Given the description of an element on the screen output the (x, y) to click on. 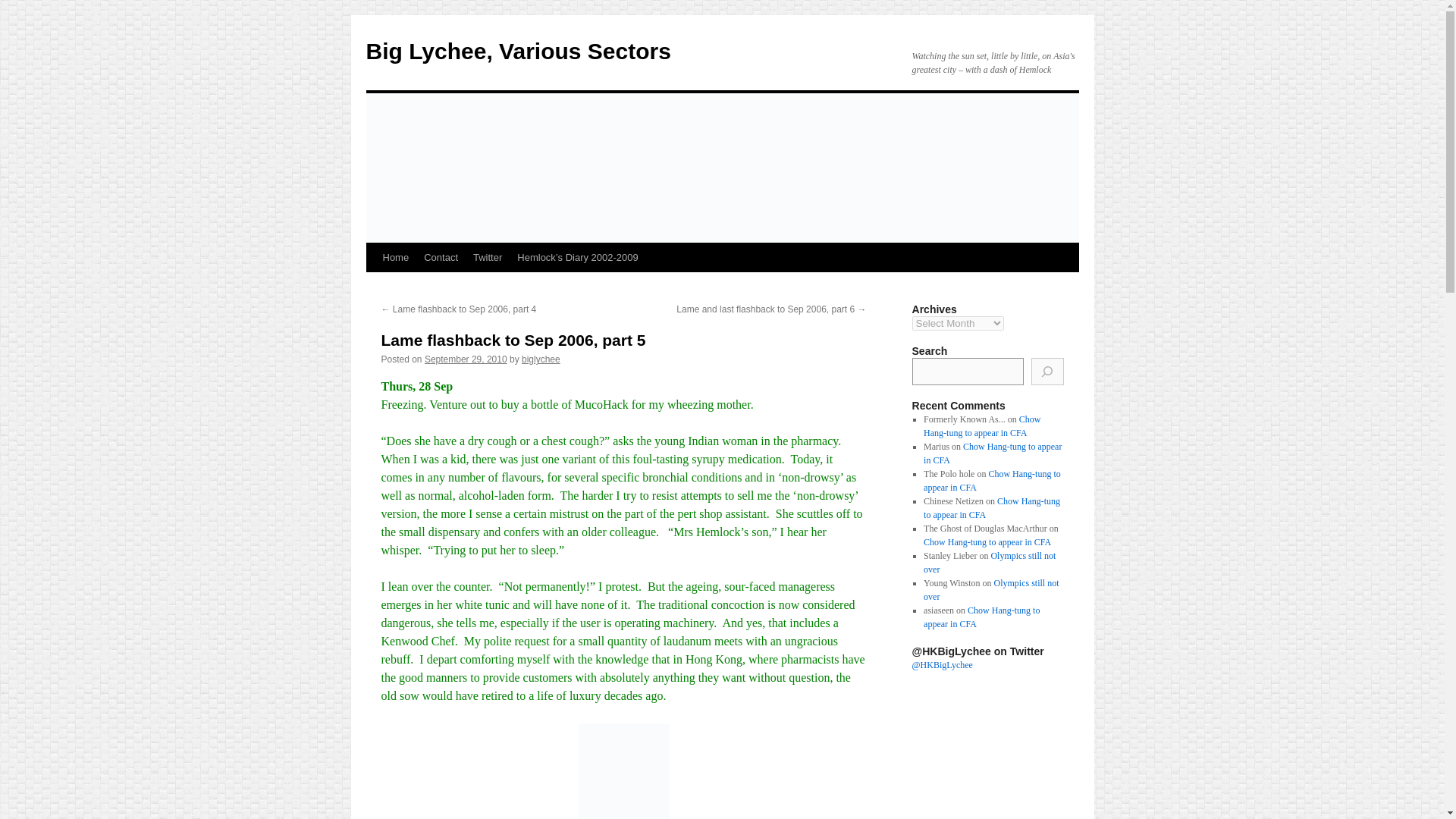
Olympics still not over (990, 589)
Chow Hang-tung to appear in CFA (991, 508)
Chow Hang-tung to appear in CFA (982, 426)
Big Lychee, Various Sectors (517, 50)
Chow Hang-tung to appear in CFA (992, 480)
10:08 am (465, 358)
Olympics still not over (989, 562)
biglychee (540, 358)
Chow Hang-tung to appear in CFA (992, 453)
Home (395, 257)
